Given the description of an element on the screen output the (x, y) to click on. 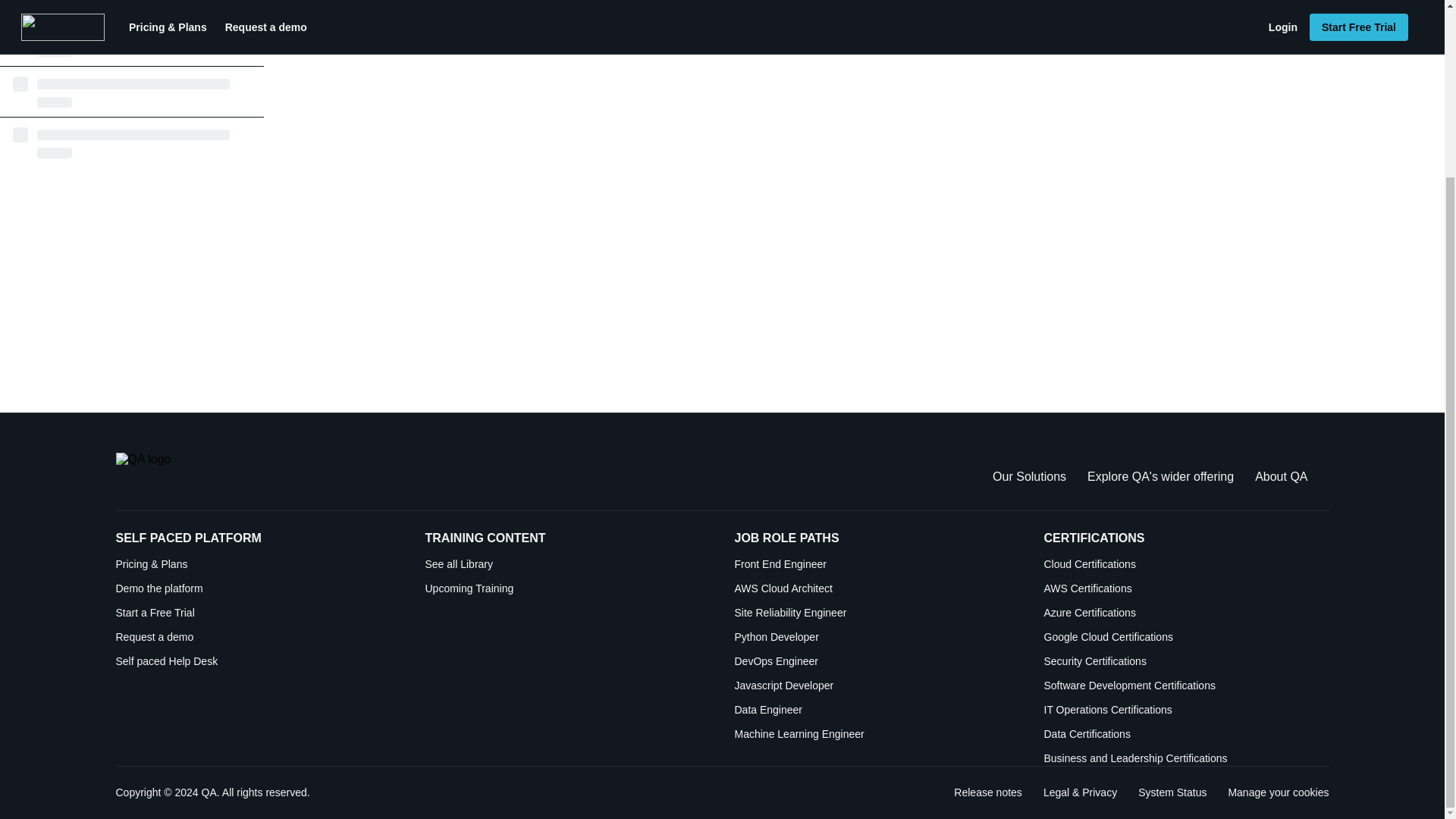
Upcoming Training (567, 588)
Security Certifications (1185, 661)
Software Development Certifications (1185, 685)
Javascript Developer (876, 685)
Site Reliability Engineer (876, 612)
Start a Free Trial (257, 612)
Data Engineer (876, 709)
DevOps Engineer (876, 661)
Release notes (987, 792)
See all Library (567, 563)
Data Certifications (1185, 734)
About QA (1281, 476)
Google Cloud Certifications (1185, 636)
Python Developer (876, 636)
Cloud Certifications (1185, 563)
